Given the description of an element on the screen output the (x, y) to click on. 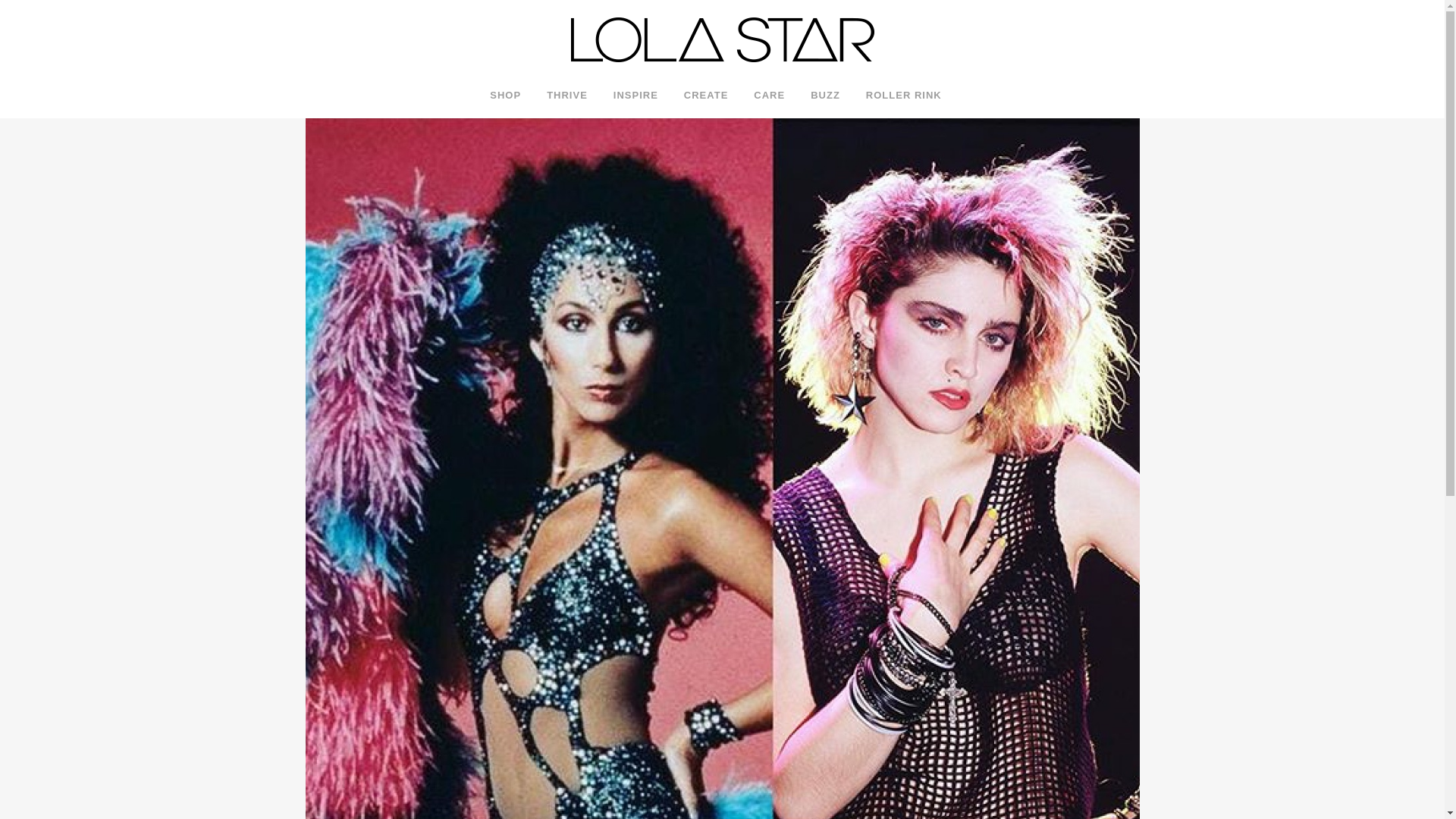
SHOP (511, 94)
CARE (769, 94)
BUZZ (825, 94)
INSPIRE (635, 94)
THRIVE (566, 94)
CREATE (706, 94)
ROLLER RINK (904, 94)
